Given the description of an element on the screen output the (x, y) to click on. 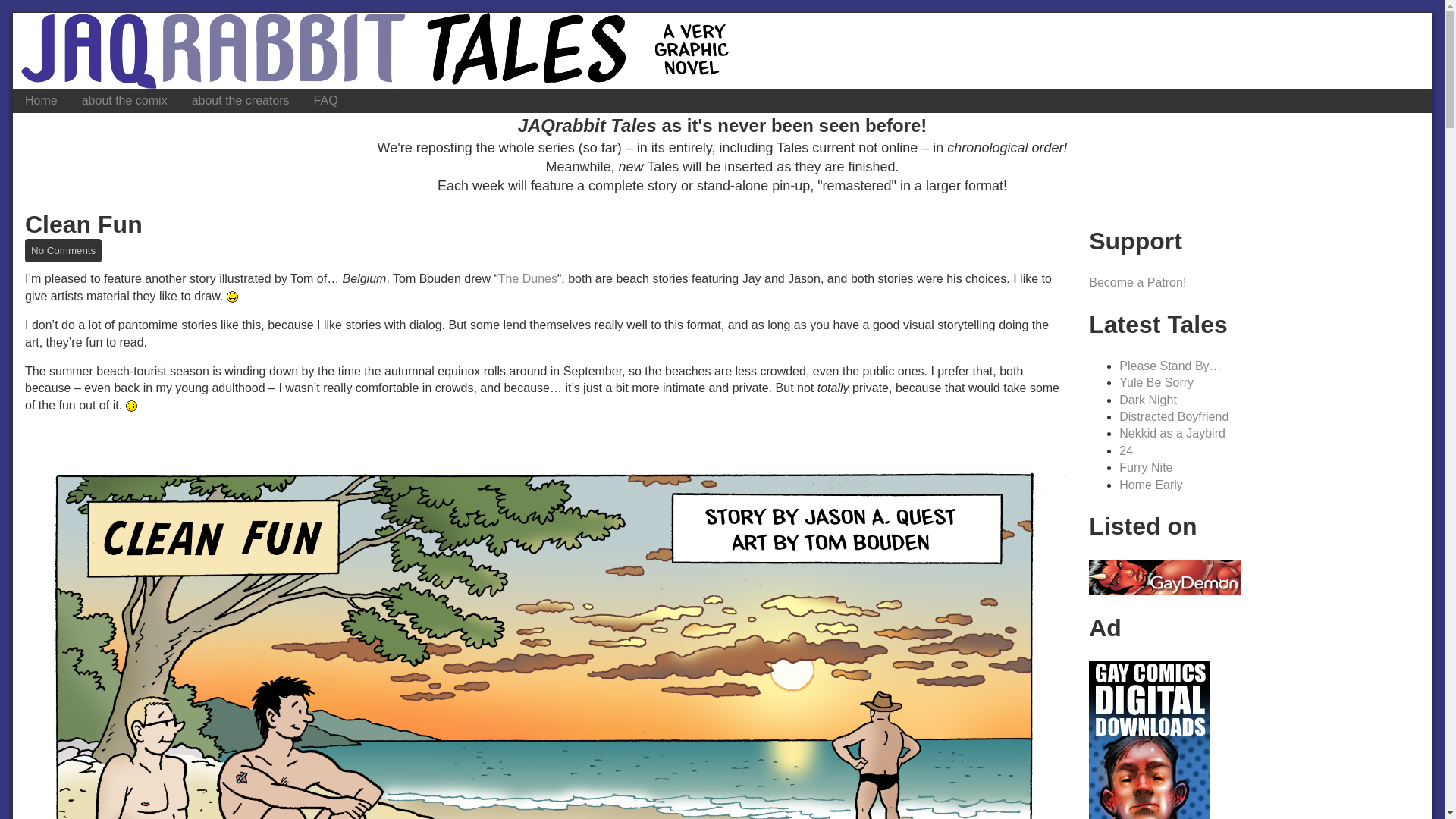
about the creators (240, 100)
GayDemon (1164, 576)
Yule Be Sorry (1156, 382)
Nekkid as a Jaybird (1172, 432)
Home (41, 100)
about the comix (124, 100)
Become a Patron! (1137, 282)
Furry Nite (1145, 467)
Distracted Boyfriend (1173, 416)
The Dunes (527, 278)
24 (1125, 450)
Home Early (1150, 484)
The Dunes (527, 278)
Dark Night (1147, 399)
No Comments (62, 250)
